Given the description of an element on the screen output the (x, y) to click on. 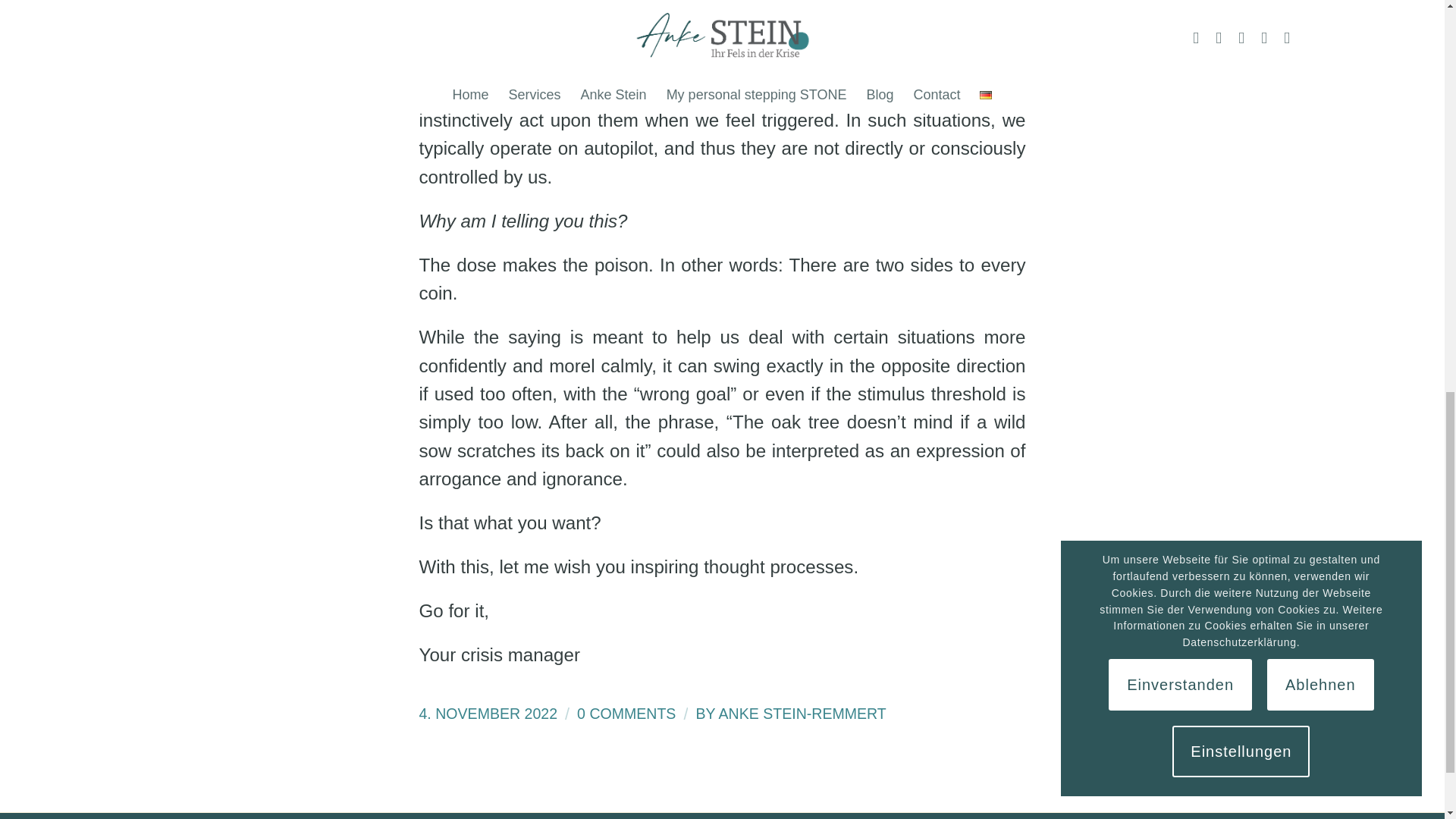
ANKE STEIN-REMMERT (802, 713)
Posts by Anke Stein-Remmert (802, 713)
0 COMMENTS (625, 713)
